Given the description of an element on the screen output the (x, y) to click on. 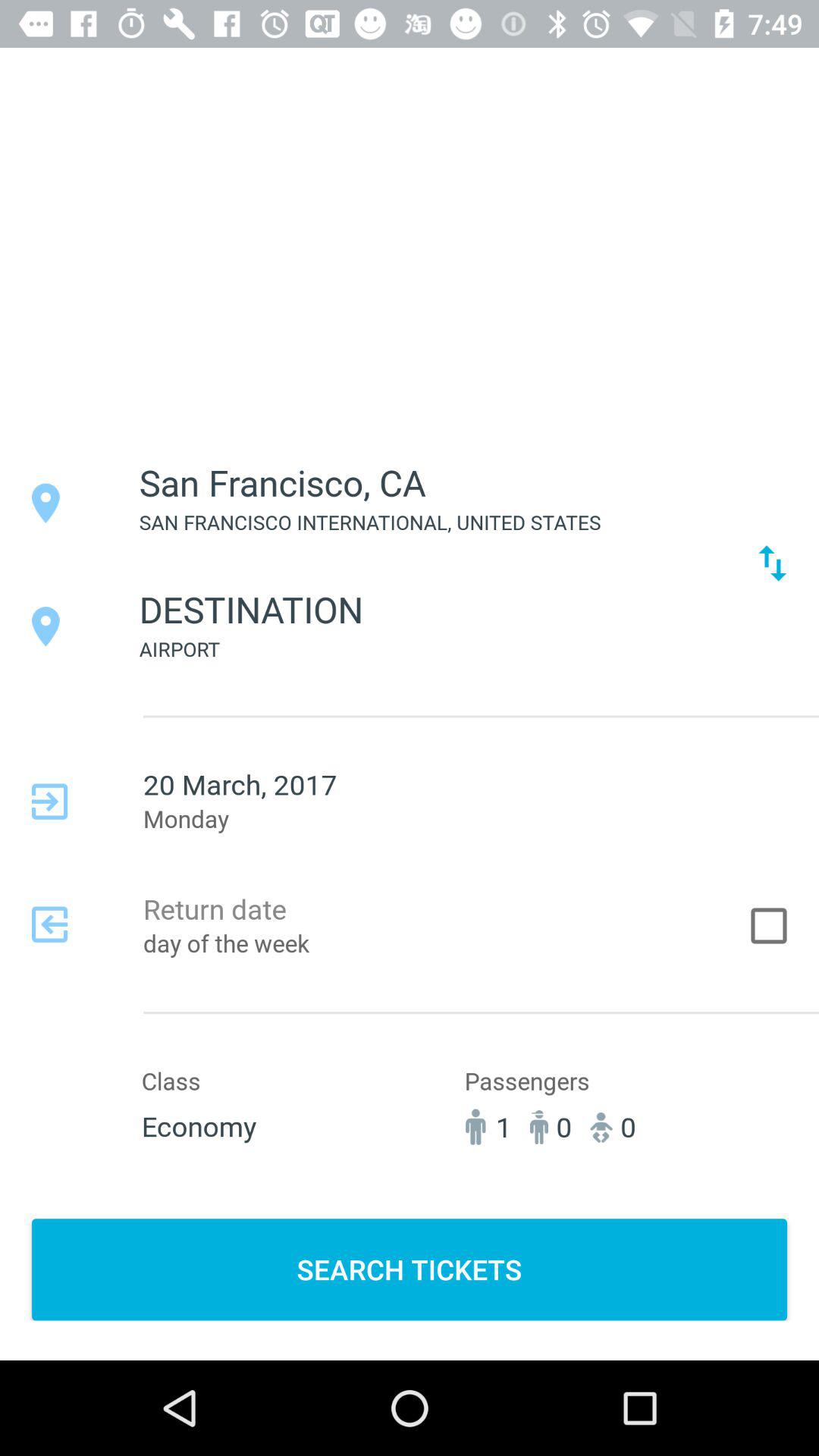
flip until the search tickets icon (409, 1269)
